Given the description of an element on the screen output the (x, y) to click on. 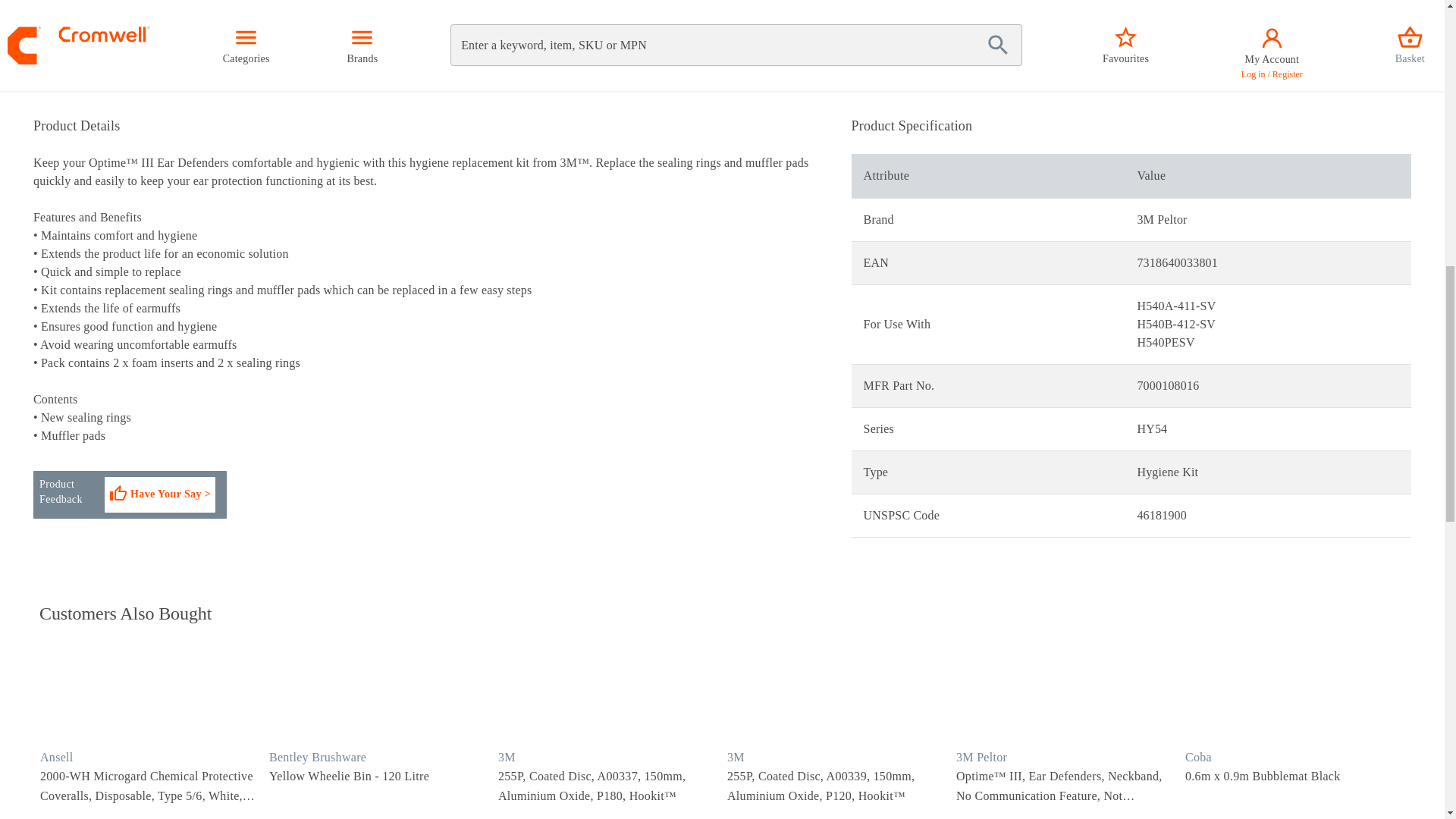
Yellow Wheelie Bin - 120 Litre (378, 691)
Ansell (57, 757)
View Yellow Wheelie Bin - 120 Litre (379, 691)
0.6m x 0.9m Bubblemat Black (1294, 691)
View Yellow Wheelie Bin - 120 Litre (349, 776)
View 0.6m x 0.9m Bubblemat Black (1262, 776)
View 0.6m x 0.9m Bubblemat Black (1295, 691)
